Given the description of an element on the screen output the (x, y) to click on. 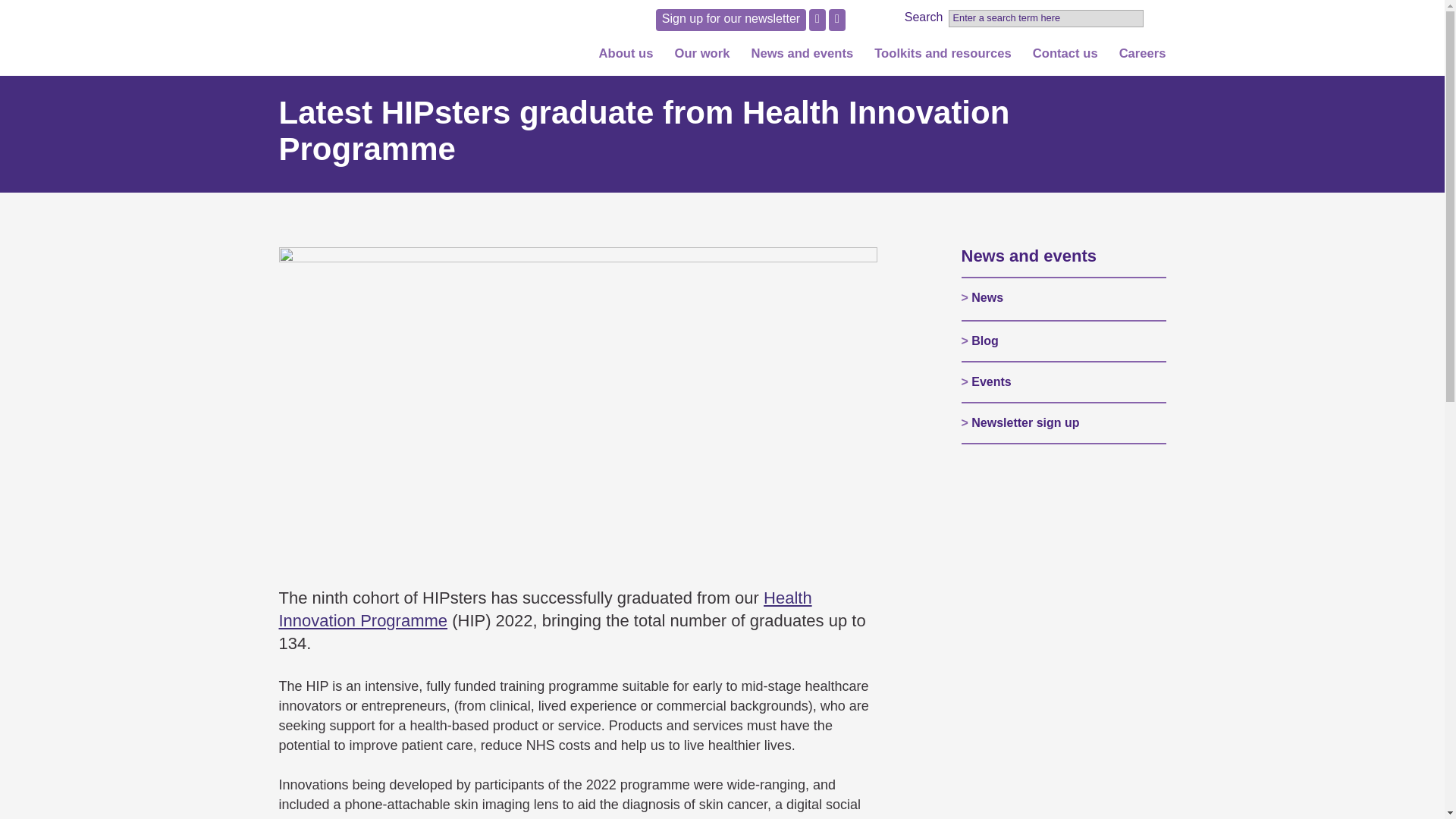
News and events (802, 58)
Supporting innovation (712, 136)
Health Innovation West of England (362, 38)
Toolkits and resources (943, 58)
Transforming services and systems (712, 87)
West of England Academy (712, 160)
Job vacancies (1131, 87)
News (813, 87)
Digital transformation (712, 184)
Case studies (712, 209)
